Given the description of an element on the screen output the (x, y) to click on. 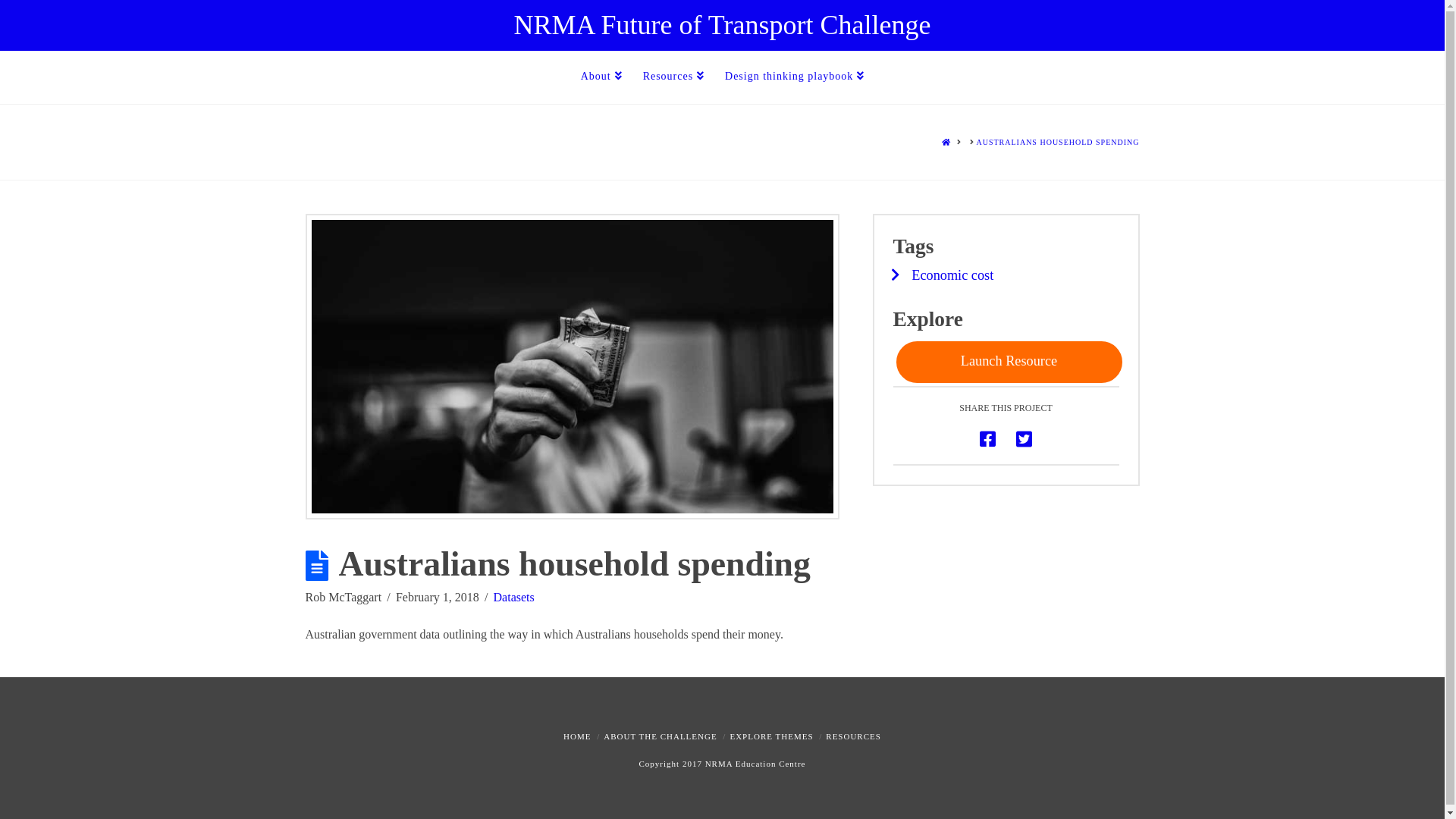
HOME Element type: text (576, 735)
Share on Facebook Element type: hover (987, 439)
Design thinking playbook Element type: text (794, 76)
EXPLORE THEMES Element type: text (770, 735)
HOME Element type: text (945, 142)
Launch Resource Element type: text (1009, 361)
RESOURCES Element type: text (853, 735)
Resources Element type: text (673, 76)
Share on Twitter Element type: hover (1024, 439)
NRMA Education Centre Element type: text (755, 763)
Economic cost Element type: text (952, 274)
Datasets Element type: text (513, 596)
NRMA Future of Transport Challenge Element type: text (721, 24)
AUSTRALIANS HOUSEHOLD SPENDING Element type: text (1057, 142)
ABOUT THE CHALLENGE Element type: text (659, 735)
About Element type: text (601, 76)
